Given the description of an element on the screen output the (x, y) to click on. 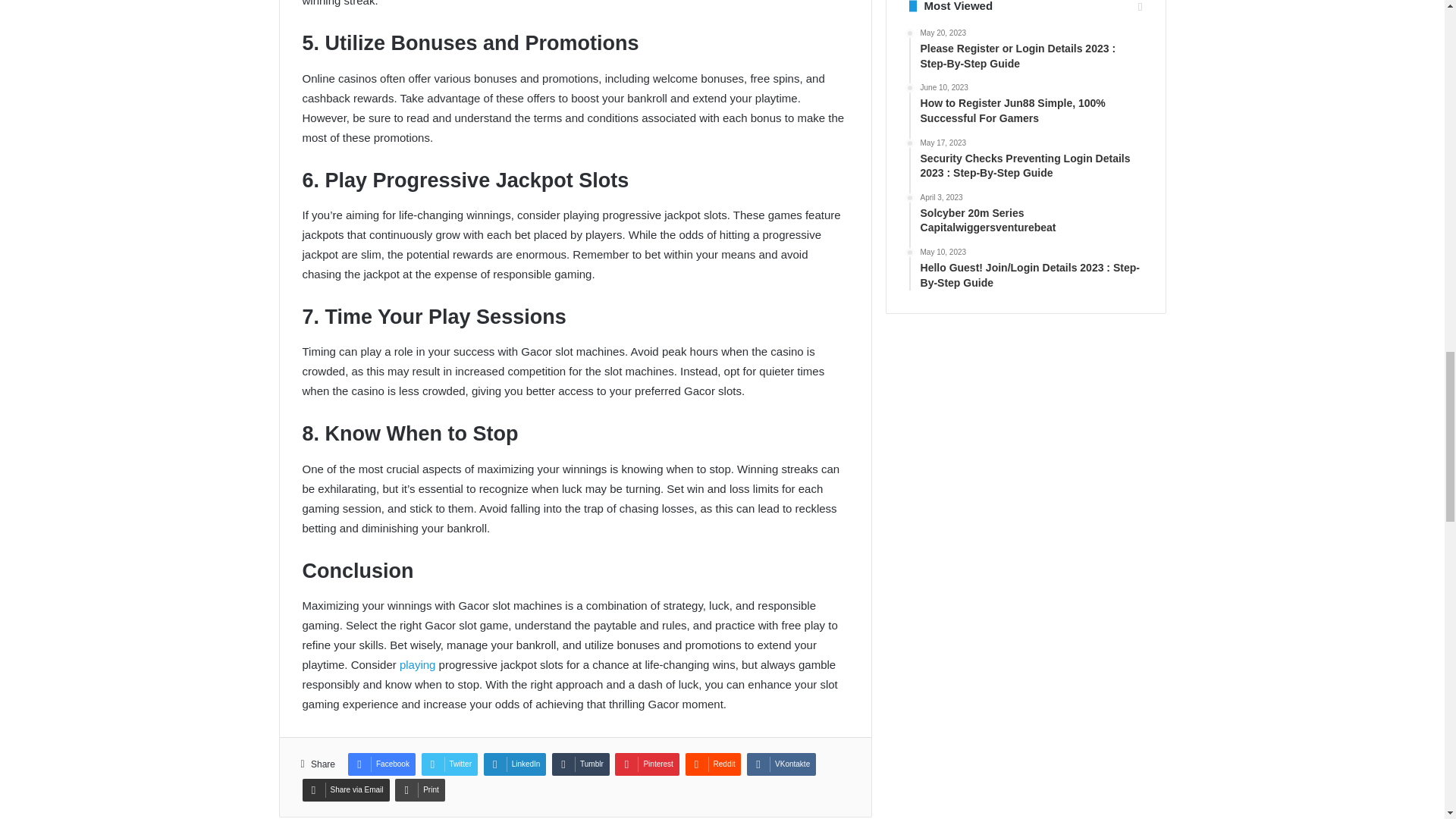
playing (416, 664)
